Given the description of an element on the screen output the (x, y) to click on. 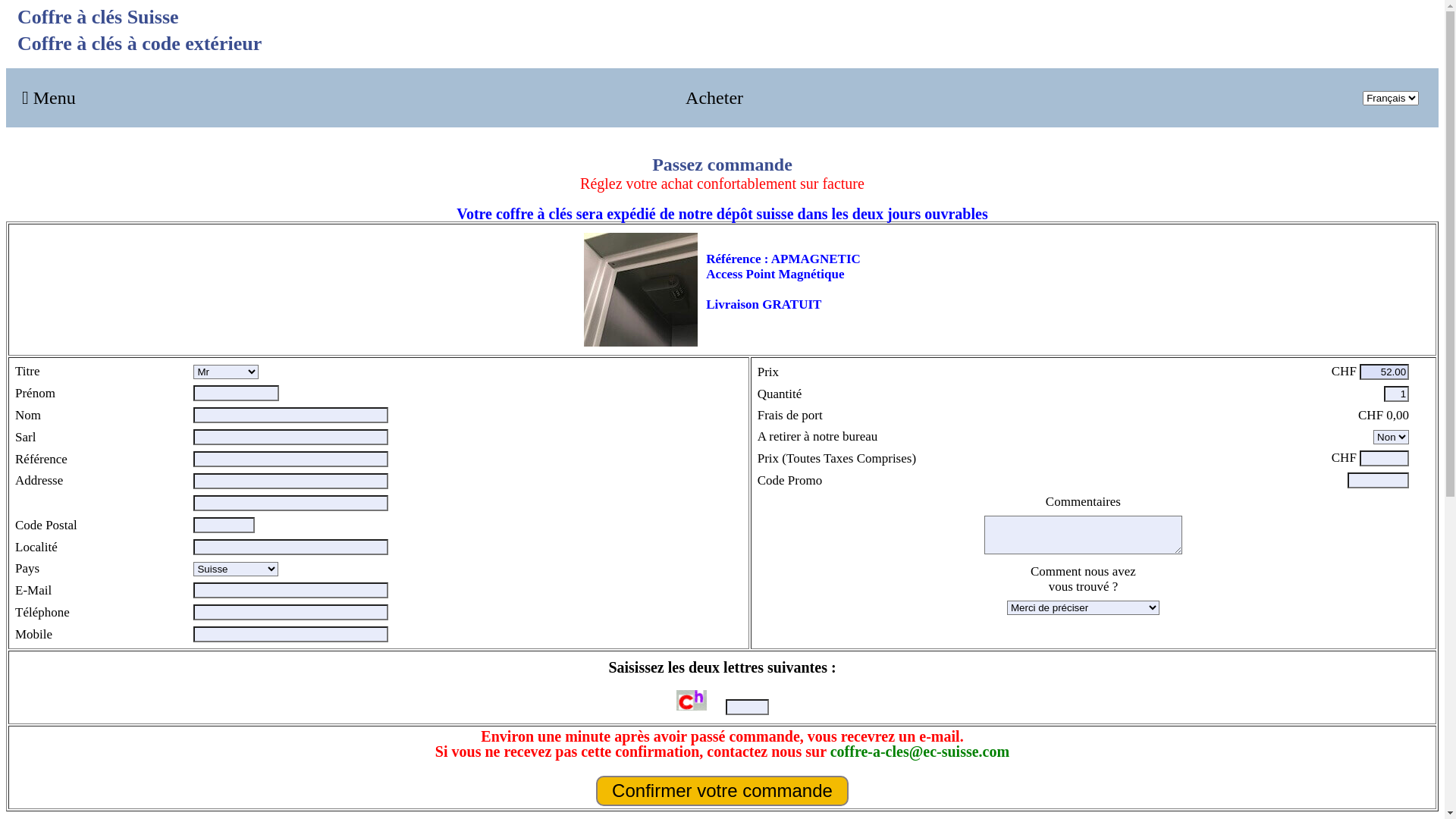
Acheter Element type: text (714, 97)
coffre-a-cles@ec-suisse.com Element type: text (919, 751)
